Given the description of an element on the screen output the (x, y) to click on. 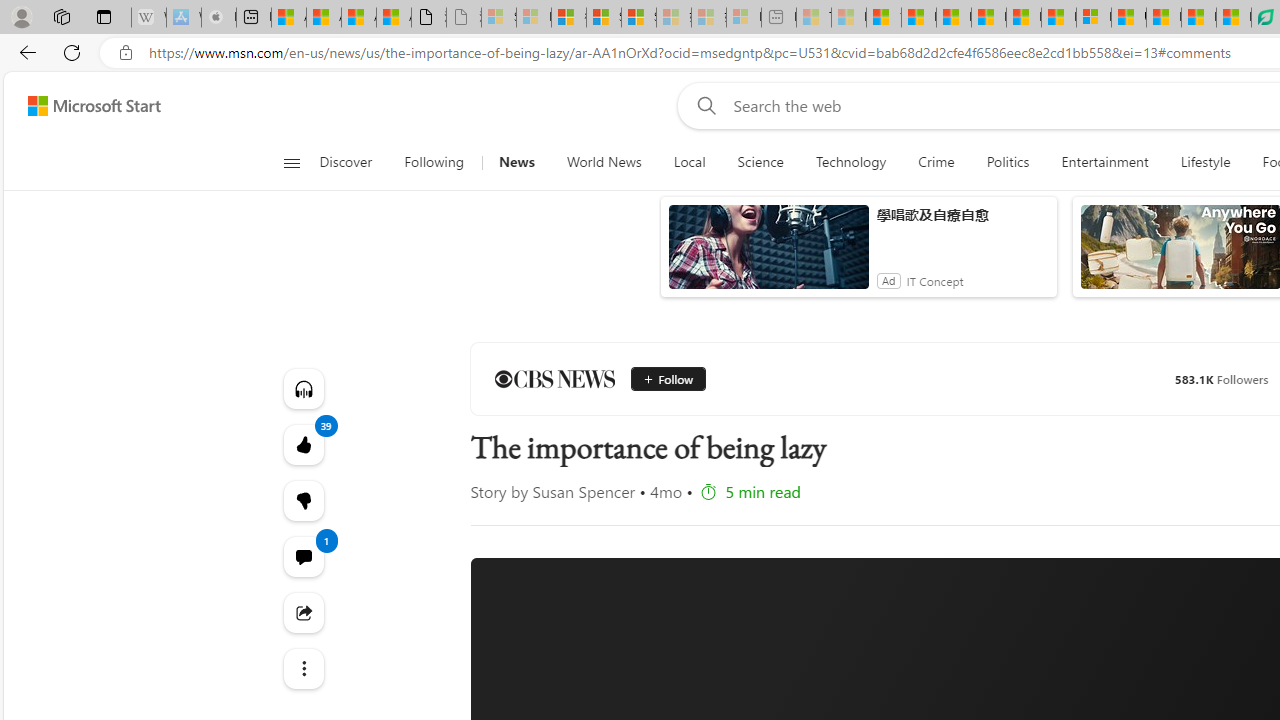
Microsoft Services Agreement - Sleeping (534, 17)
